Given the description of an element on the screen output the (x, y) to click on. 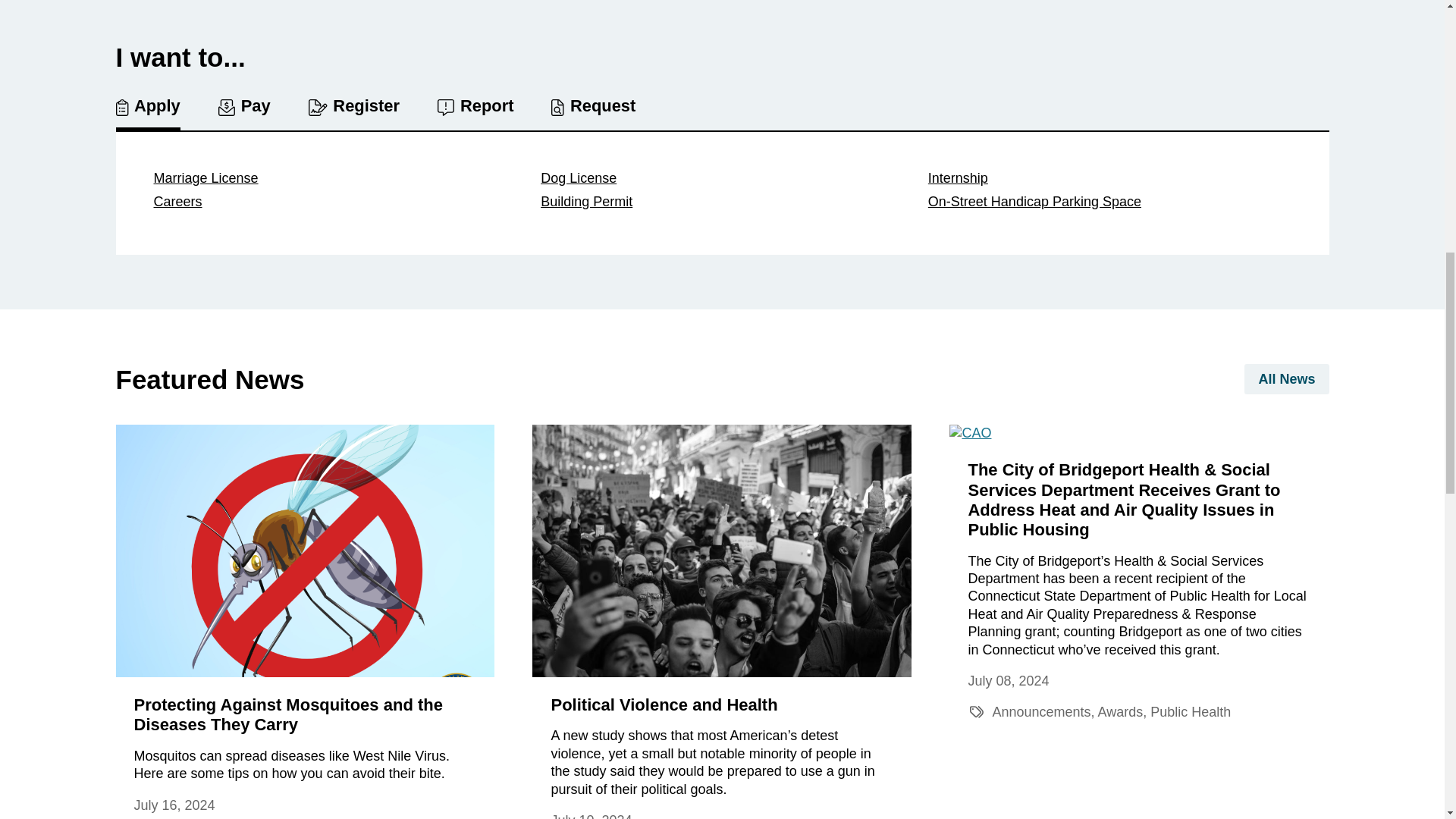
Careers (334, 201)
Pay (244, 107)
Dog License (722, 178)
Marriage License (334, 178)
Report (475, 107)
Internship (1109, 178)
On-Street Handicap Parking Space (1109, 205)
Building Permit (722, 201)
Register (353, 107)
Apply (147, 114)
Request (592, 107)
